Given the description of an element on the screen output the (x, y) to click on. 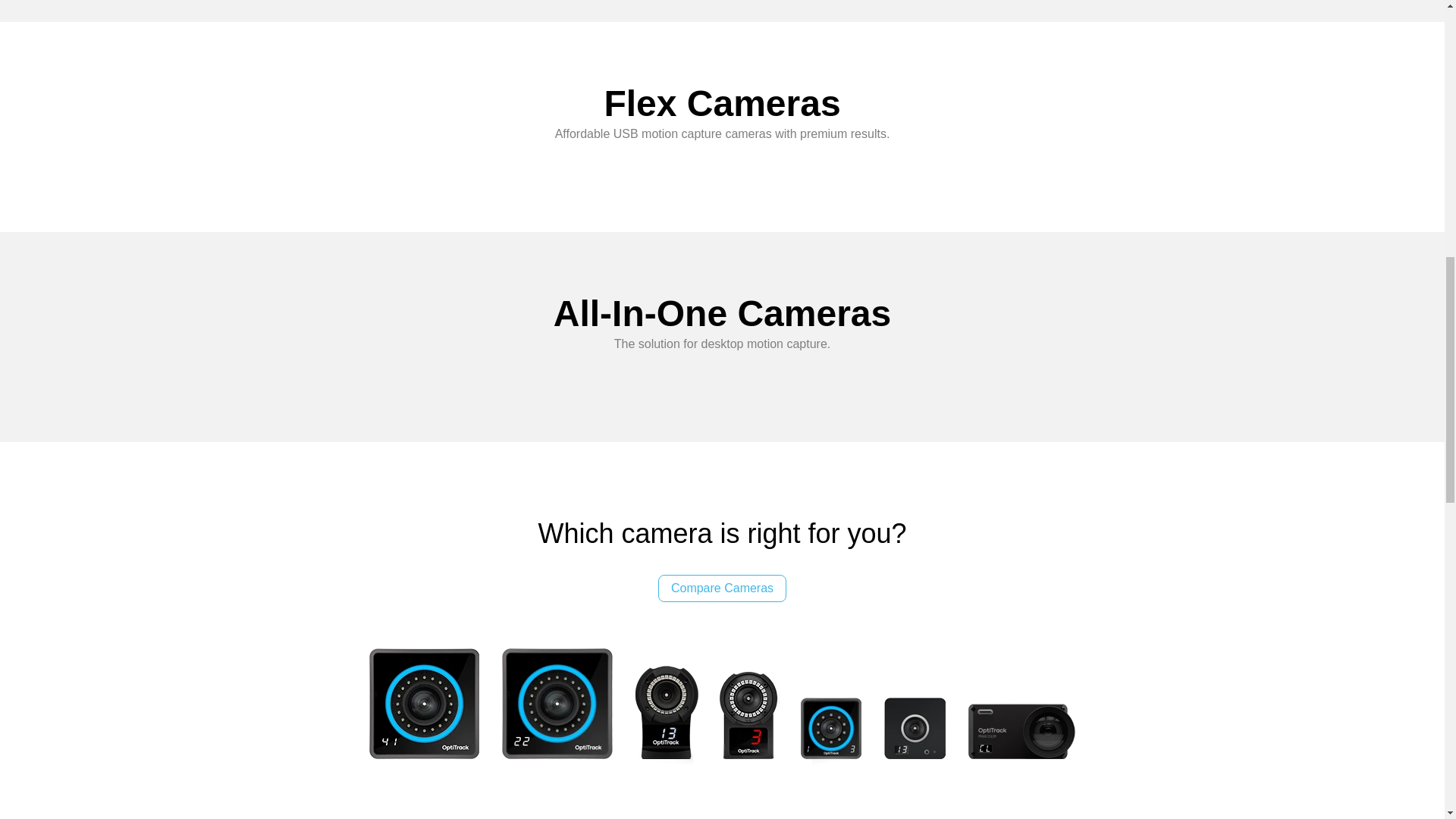
Compare Cameras (722, 587)
